Given the description of an element on the screen output the (x, y) to click on. 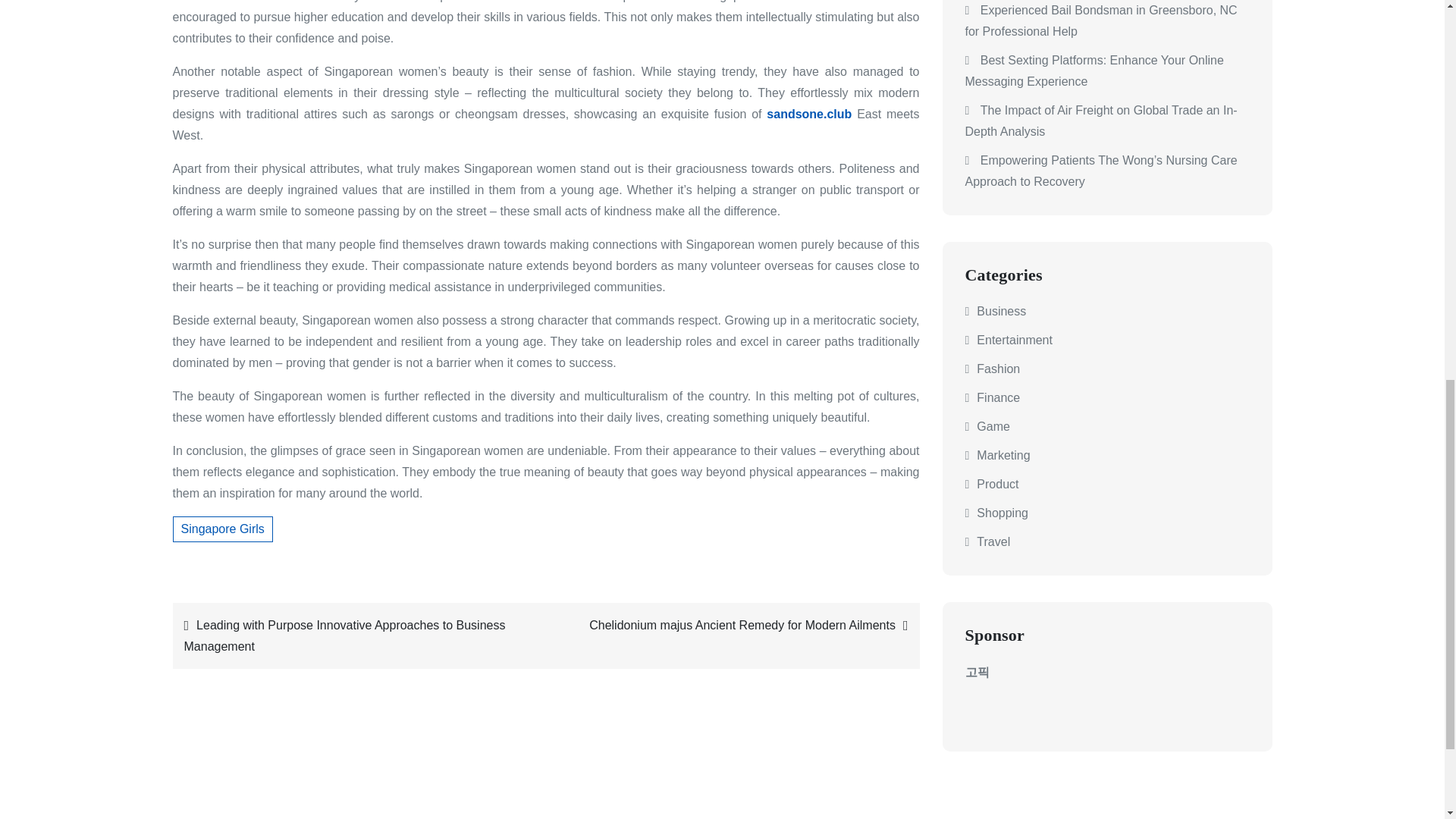
Entertainment (1014, 339)
Shopping (1001, 512)
Finance (998, 397)
Business (1001, 310)
Game (993, 426)
Marketing (1002, 454)
sandsone.club (809, 113)
Fashion (998, 368)
Singapore Girls (223, 529)
Travel (993, 541)
Chelidonium majus Ancient Remedy for Modern Ailments (736, 625)
Product (996, 483)
